Given the description of an element on the screen output the (x, y) to click on. 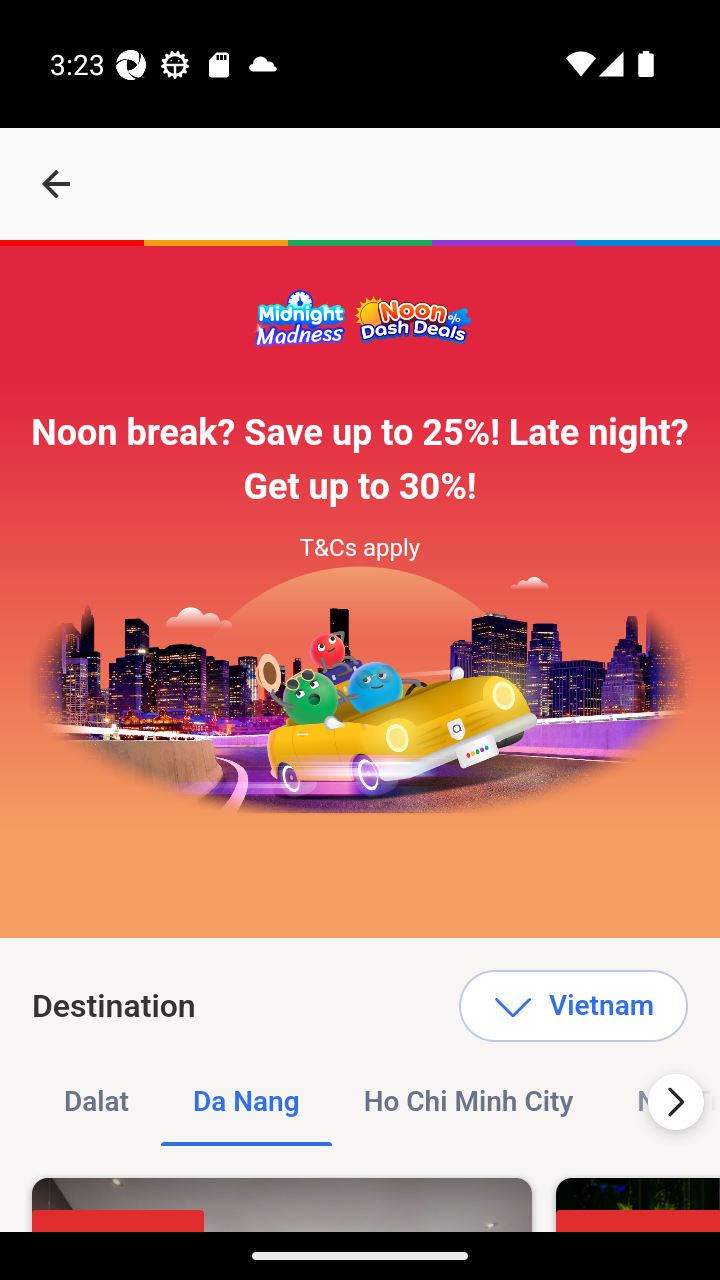
navigation_button (56, 184)
Vietnam (572, 1005)
Dalat (97, 1101)
Da Nang (245, 1101)
Ho Chi Minh City (467, 1101)
